Given the description of an element on the screen output the (x, y) to click on. 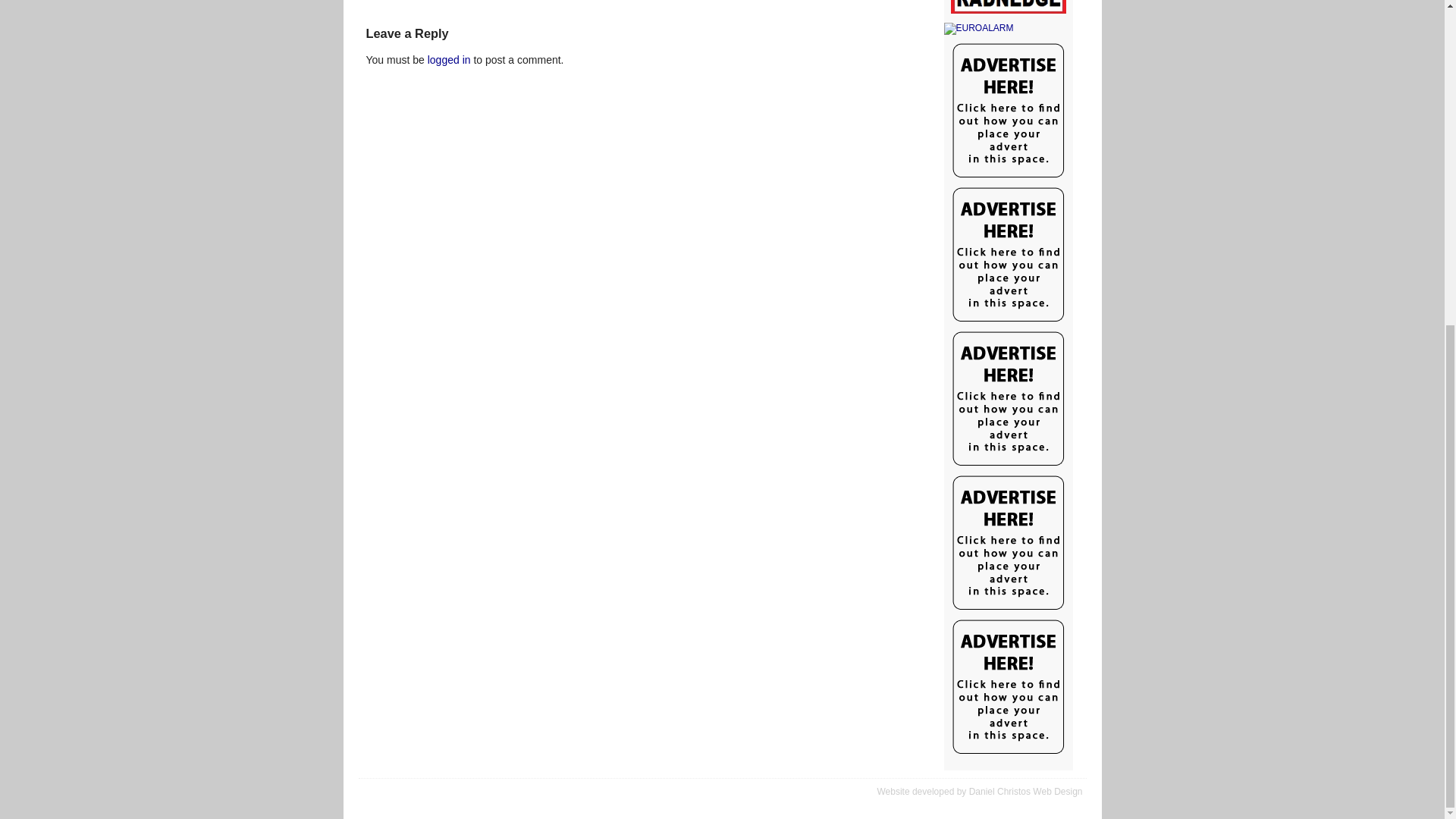
WFR2024 (1007, 7)
EUROALARM (1007, 28)
logged in (449, 60)
Daniel Christos Web Design (1026, 791)
